Given the description of an element on the screen output the (x, y) to click on. 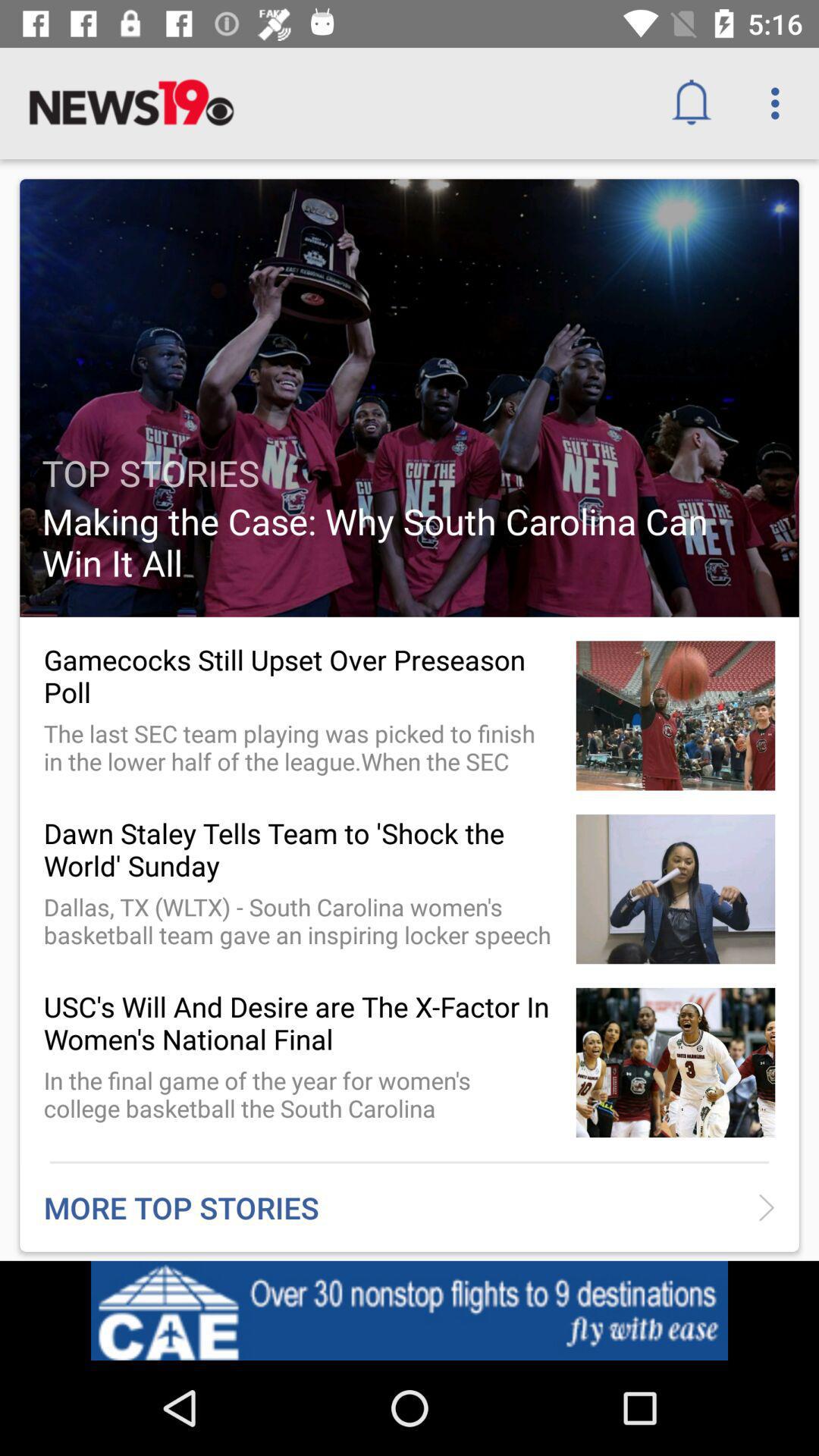
select icon to the right of the san francisco icon (696, 1315)
